Given the description of an element on the screen output the (x, y) to click on. 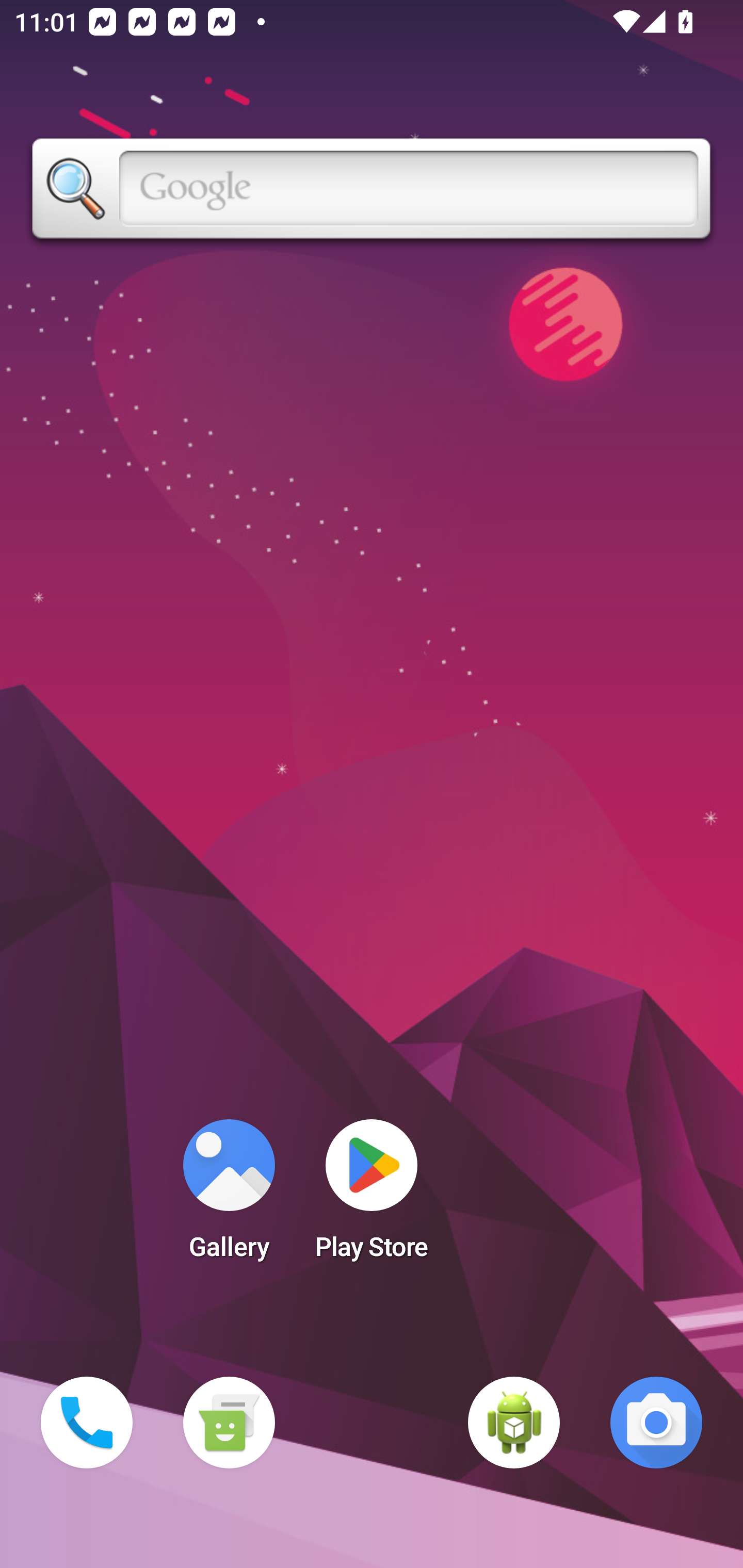
Gallery (228, 1195)
Play Store (371, 1195)
Phone (86, 1422)
Messaging (228, 1422)
WebView Browser Tester (513, 1422)
Camera (656, 1422)
